Given the description of an element on the screen output the (x, y) to click on. 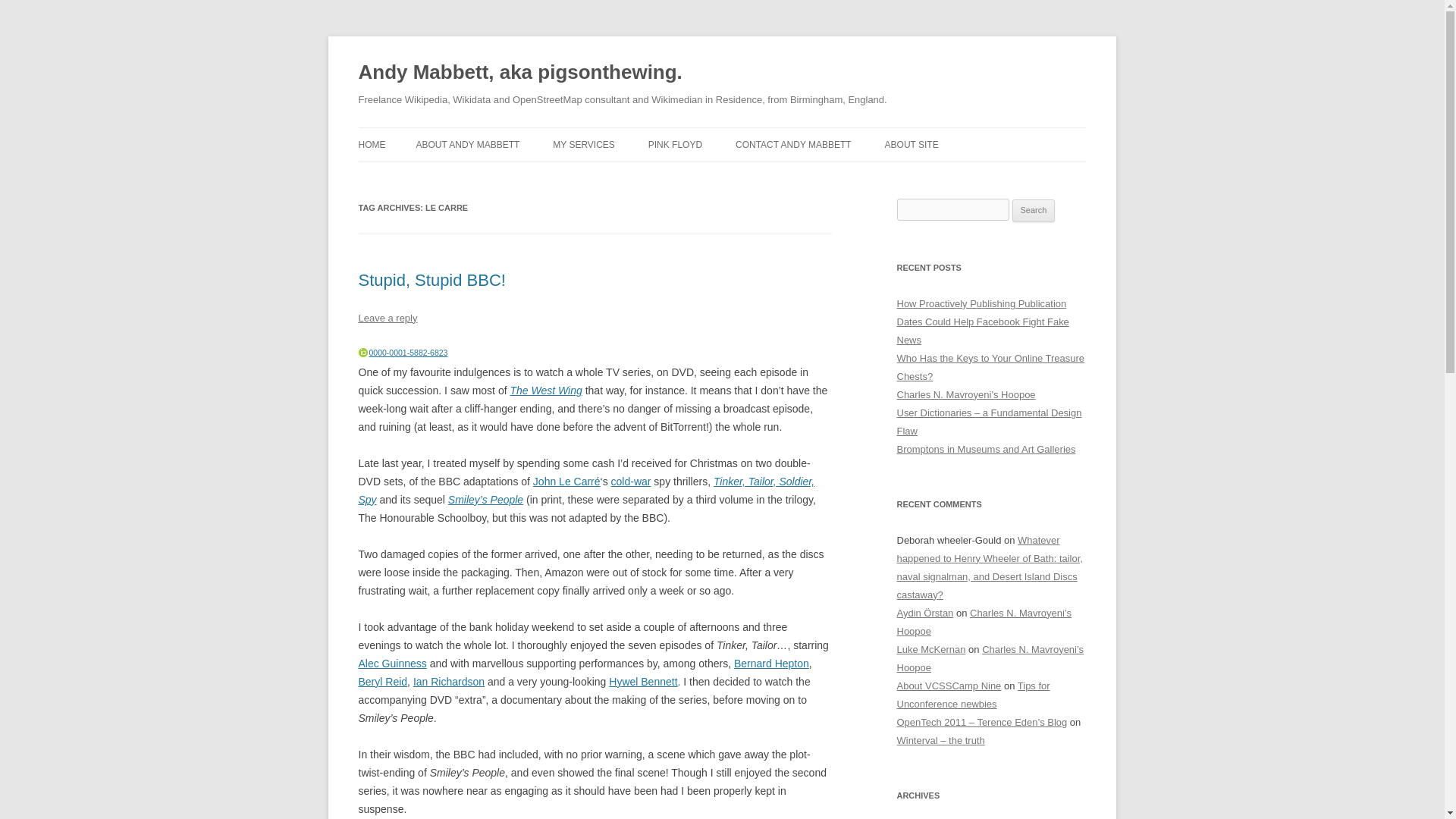
ABOUT SITE (912, 144)
Leave a reply (387, 317)
Andy Mabbett, aka pigsonthewing. (519, 72)
0000-0001-5882-6823 (407, 352)
The West Wing (544, 390)
Beryl Reid (382, 681)
Alec Guinness (392, 663)
Ian Richardson (448, 681)
cold-war (630, 481)
CONTACT ANDY MABBETT (793, 144)
Stupid, Stupid BBC! (431, 280)
Tinker, Tailor, Soldier, Spy (585, 490)
PINK FLOYD (674, 144)
Search (1033, 210)
